Given the description of an element on the screen output the (x, y) to click on. 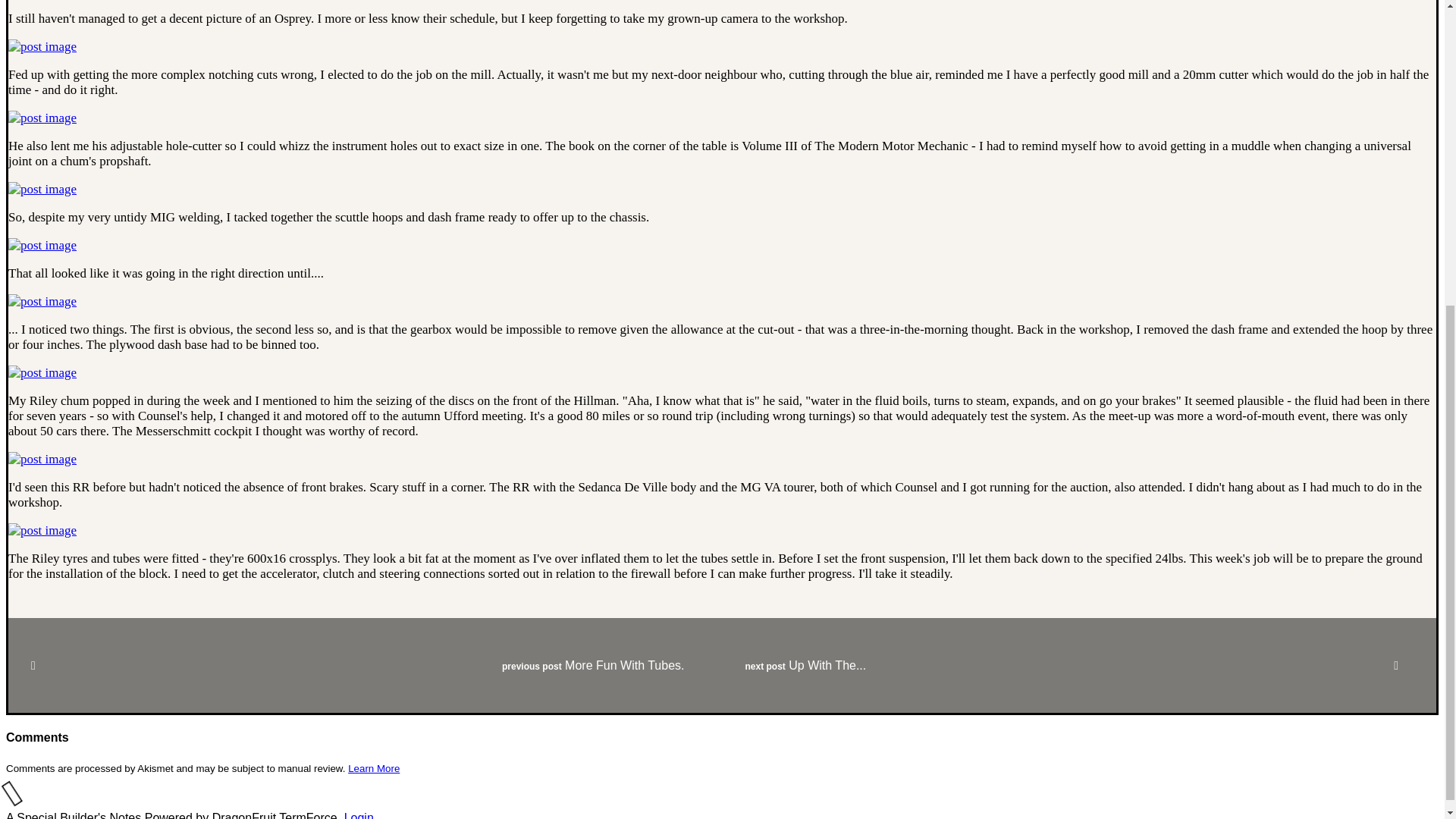
Learn More (372, 767)
previous post More Fun With Tubes. (365, 665)
